Given the description of an element on the screen output the (x, y) to click on. 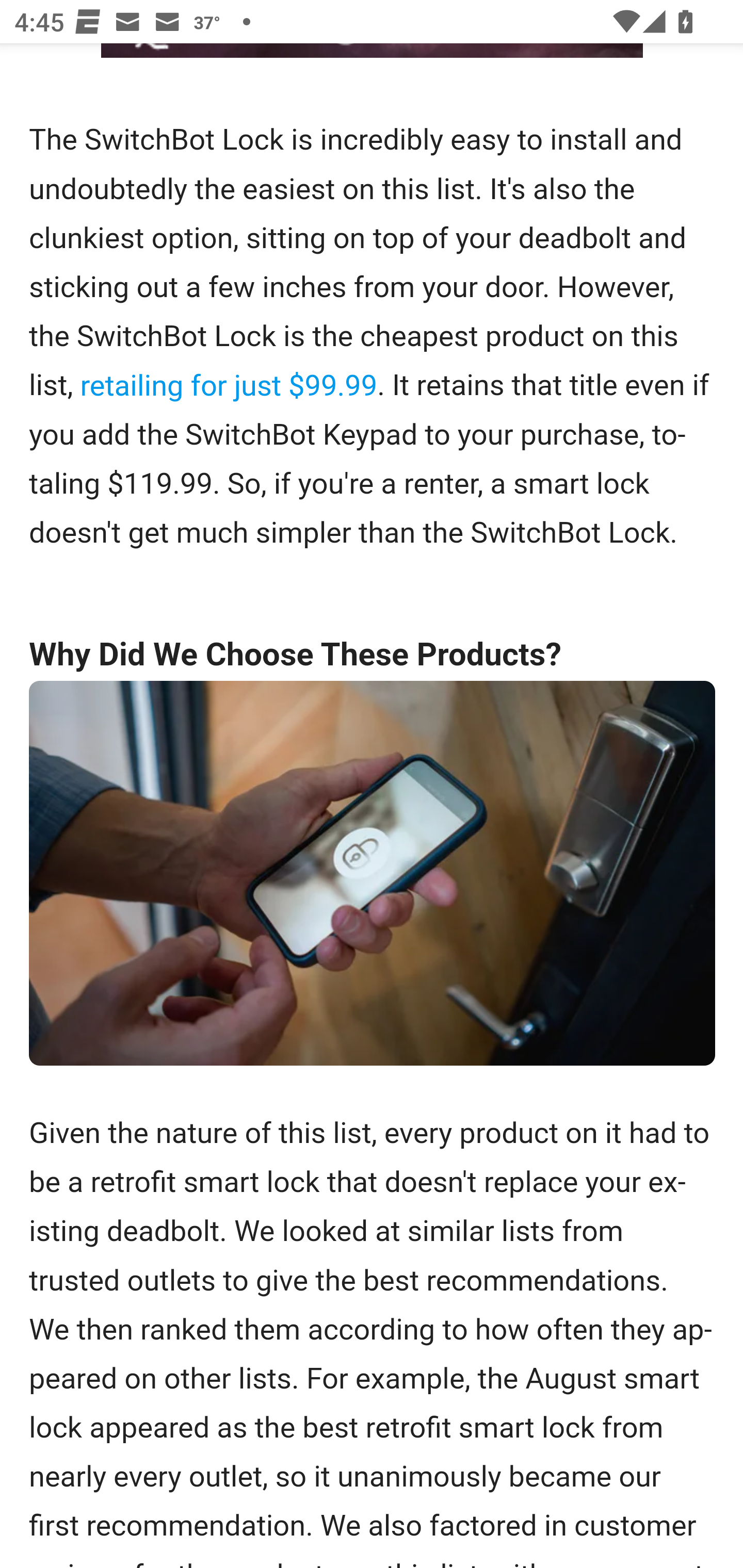
retailing for just $99.99 (228, 384)
